Given the description of an element on the screen output the (x, y) to click on. 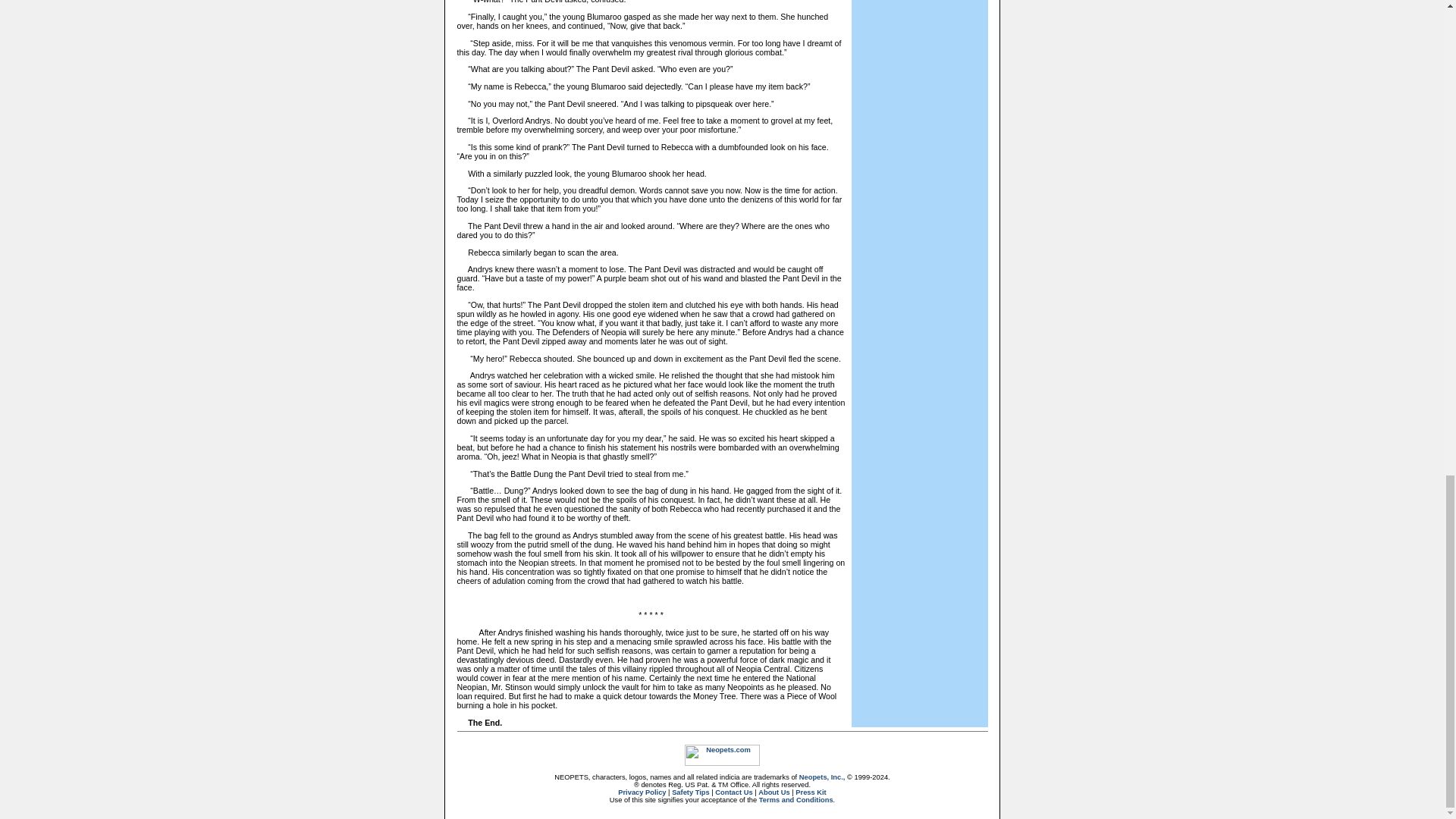
Privacy Policy (641, 792)
Neopets, Inc., (822, 777)
Contact Us (733, 792)
Press Kit (809, 792)
About Us (773, 792)
Terms and Conditions (795, 799)
Safety Tips (690, 792)
